Given the description of an element on the screen output the (x, y) to click on. 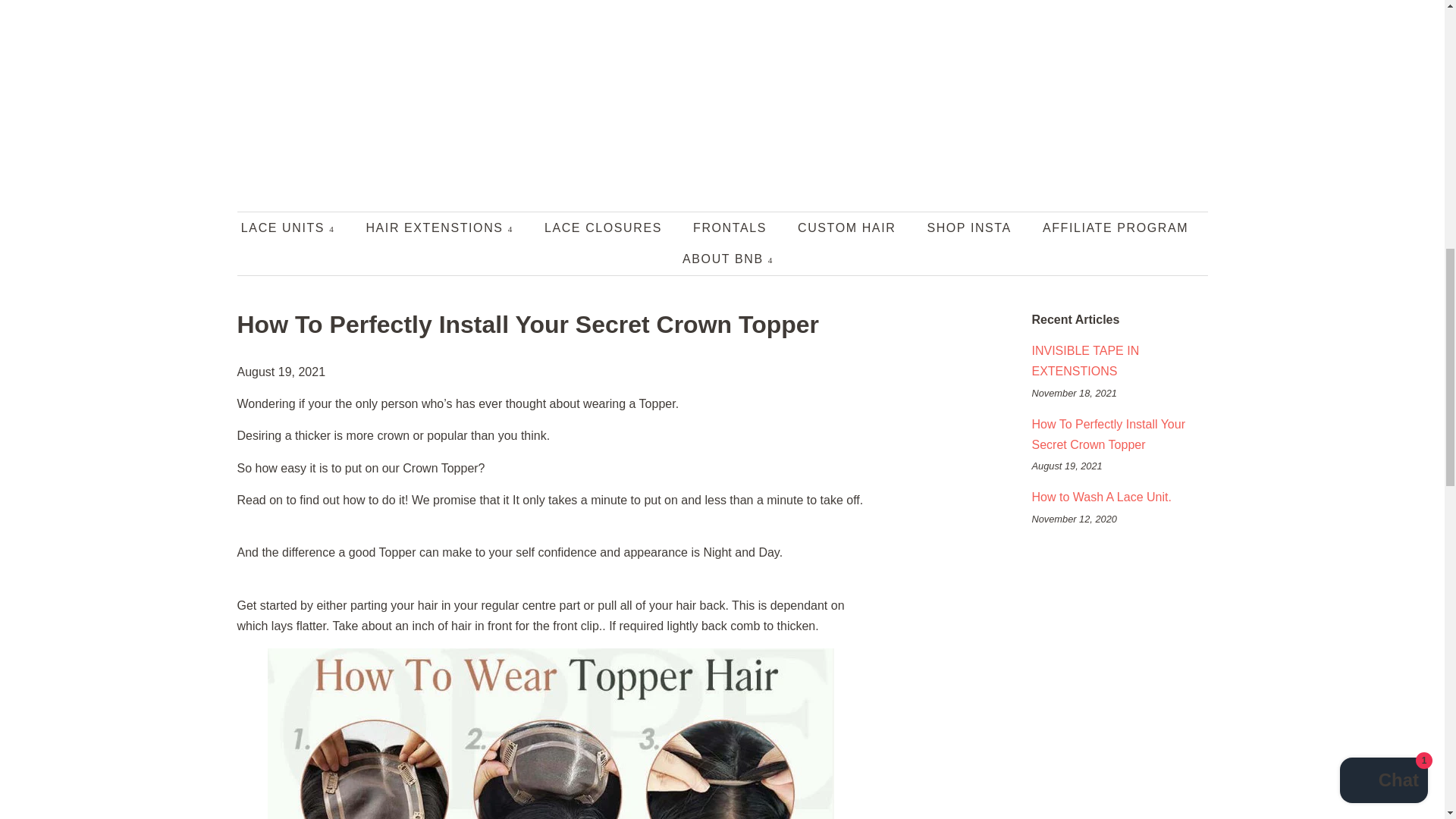
LACE UNITS (295, 227)
